Given the description of an element on the screen output the (x, y) to click on. 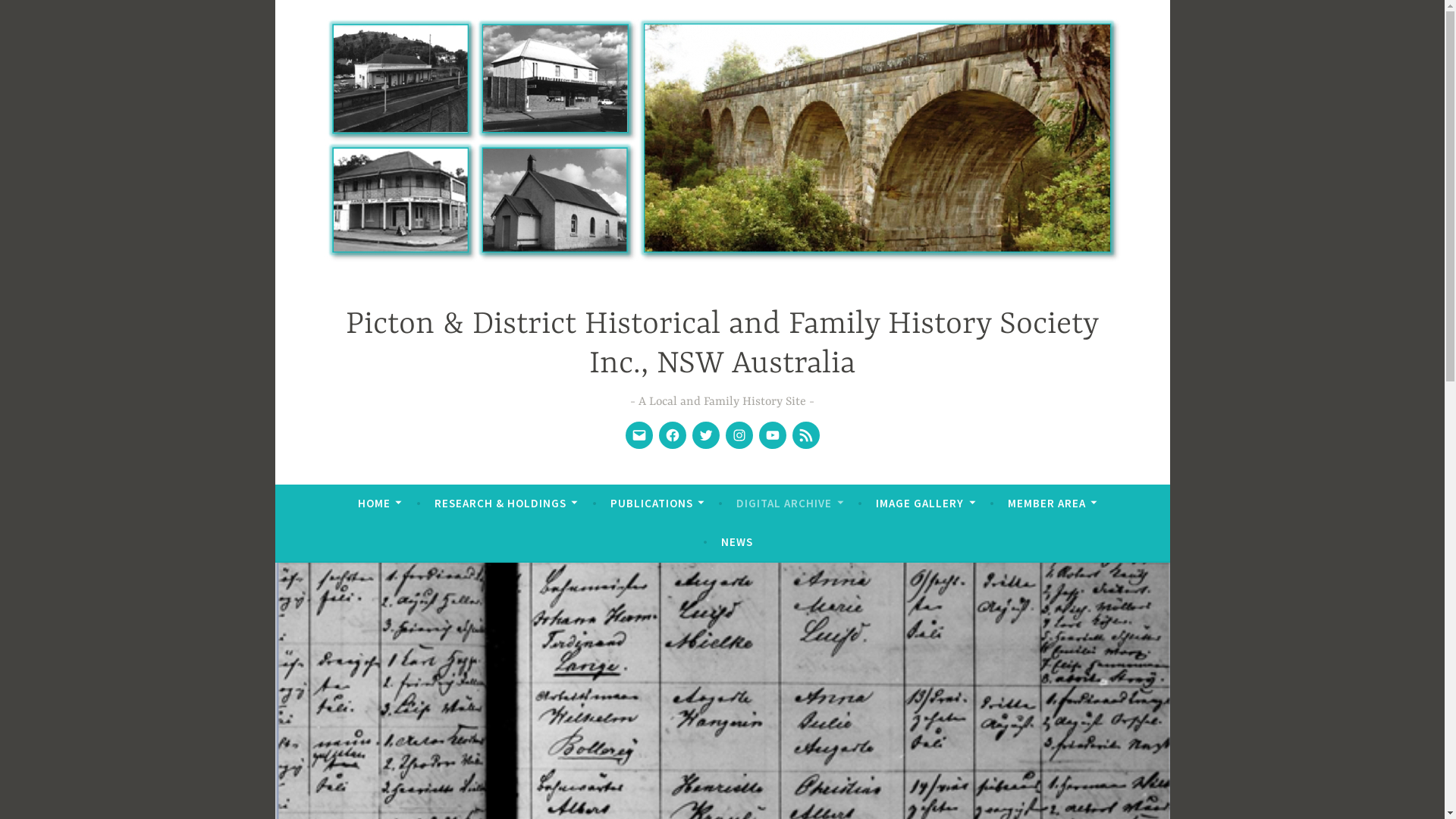
MEMBER AREA Element type: text (1052, 503)
RSS Element type: text (804, 434)
PUBLICATIONS Element type: text (657, 503)
HOME Element type: text (379, 503)
IMAGE GALLERY Element type: text (925, 503)
RESEARCH & HOLDINGS Element type: text (505, 503)
Twitter Element type: text (704, 434)
Instagram Element type: text (738, 434)
YouTube Element type: text (771, 434)
Email Element type: text (638, 434)
DIGITAL ARCHIVE Element type: text (789, 503)
NEWS Element type: text (737, 541)
Facebook Element type: text (671, 434)
